Given the description of an element on the screen output the (x, y) to click on. 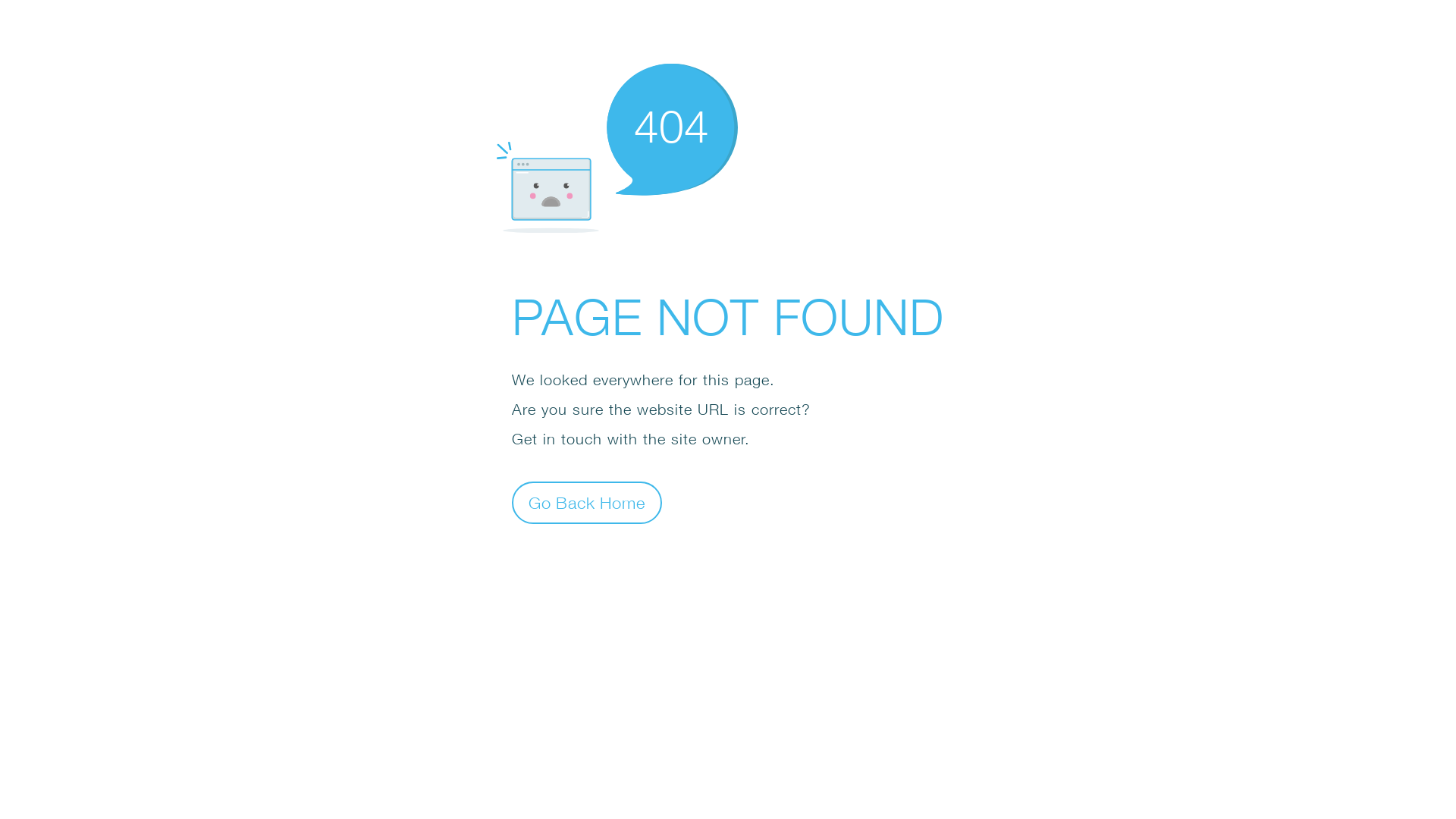
Go Back Home Element type: text (586, 502)
